Given the description of an element on the screen output the (x, y) to click on. 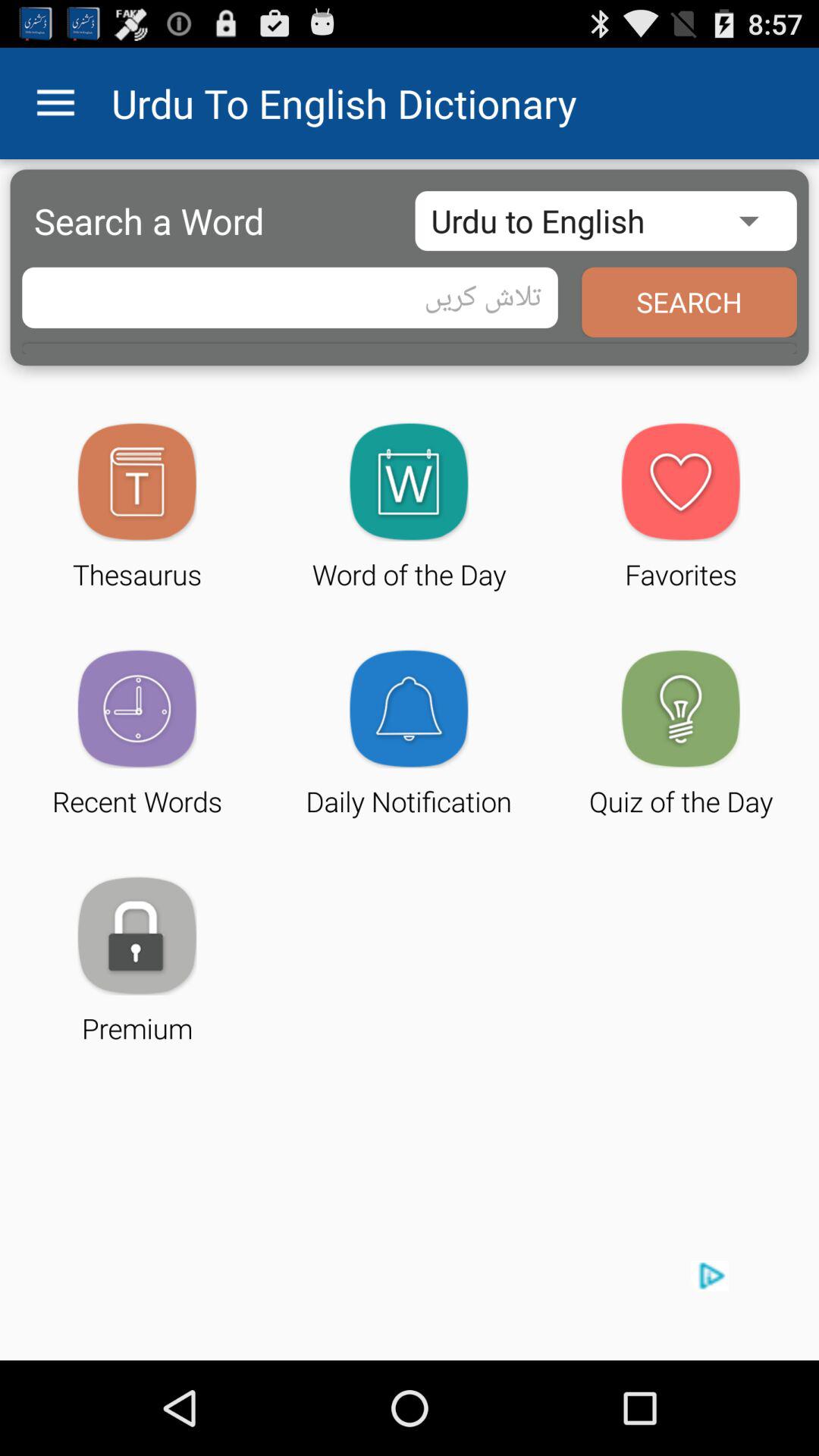
click the image above premium (136, 935)
click on the icon above the text thesaurus (136, 481)
click the image above recent words (136, 708)
select the favorites icon at the right corner (680, 481)
